Given the description of an element on the screen output the (x, y) to click on. 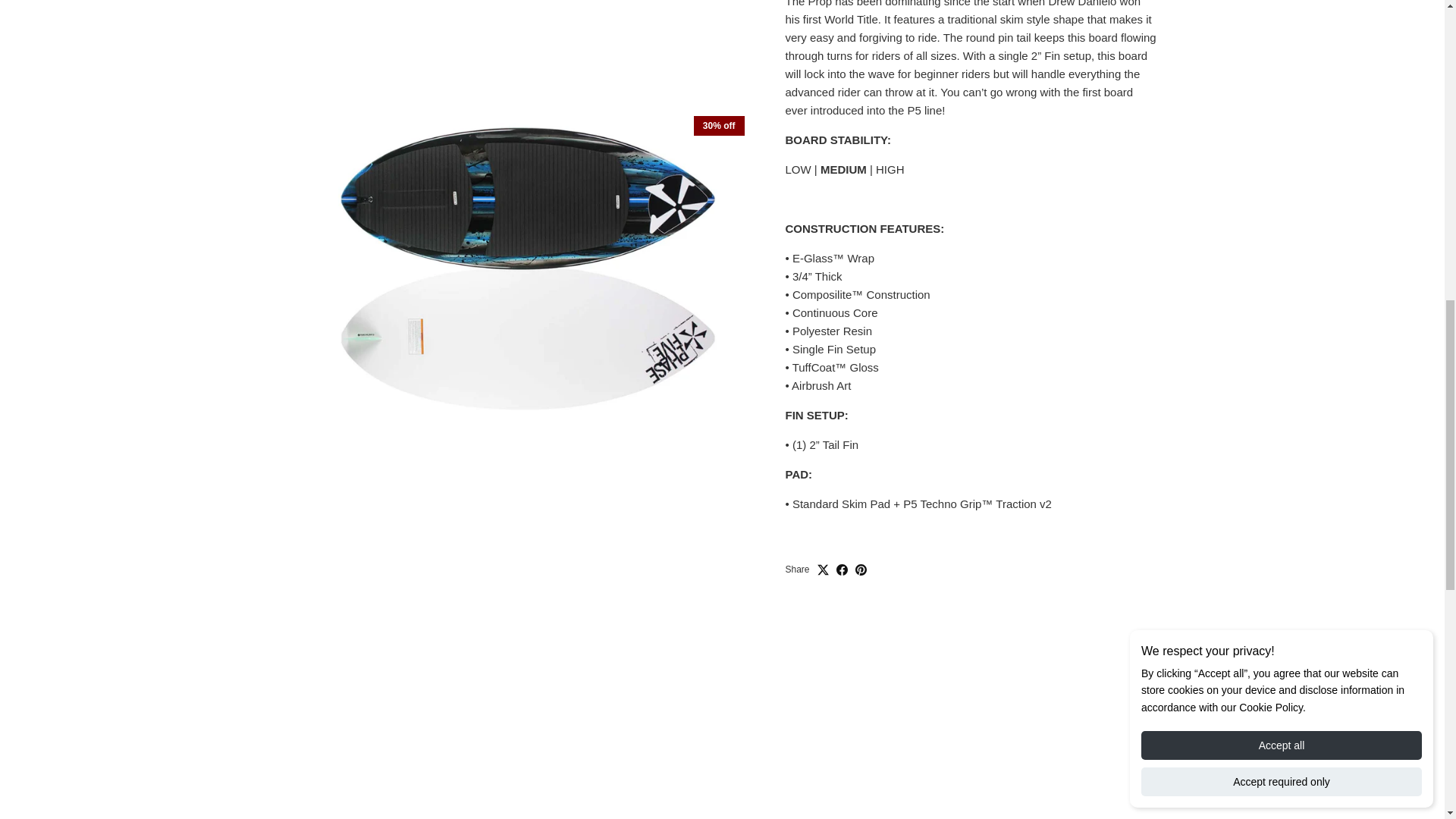
Pin on Pinterest (861, 550)
Tweet on X (822, 550)
Share on Facebook (841, 550)
